Given the description of an element on the screen output the (x, y) to click on. 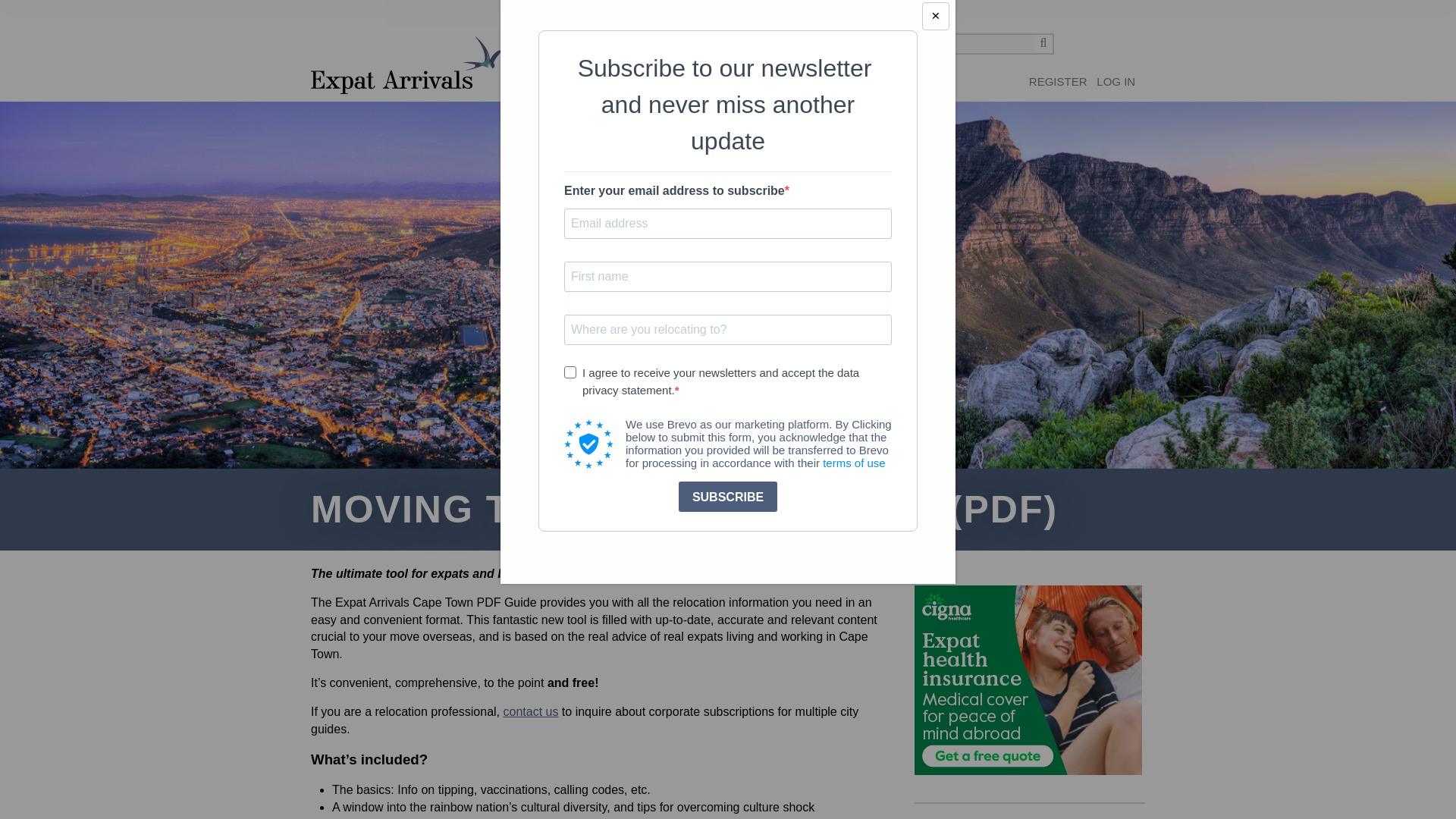
LOG IN (1115, 81)
Sign me up (1058, 81)
HOME (538, 90)
Search (1043, 43)
Search (1043, 43)
Home (406, 65)
REGISTER (1058, 81)
GUIDES (634, 90)
Enter the terms you wish to search for. (967, 43)
FORUM (583, 90)
